Given the description of an element on the screen output the (x, y) to click on. 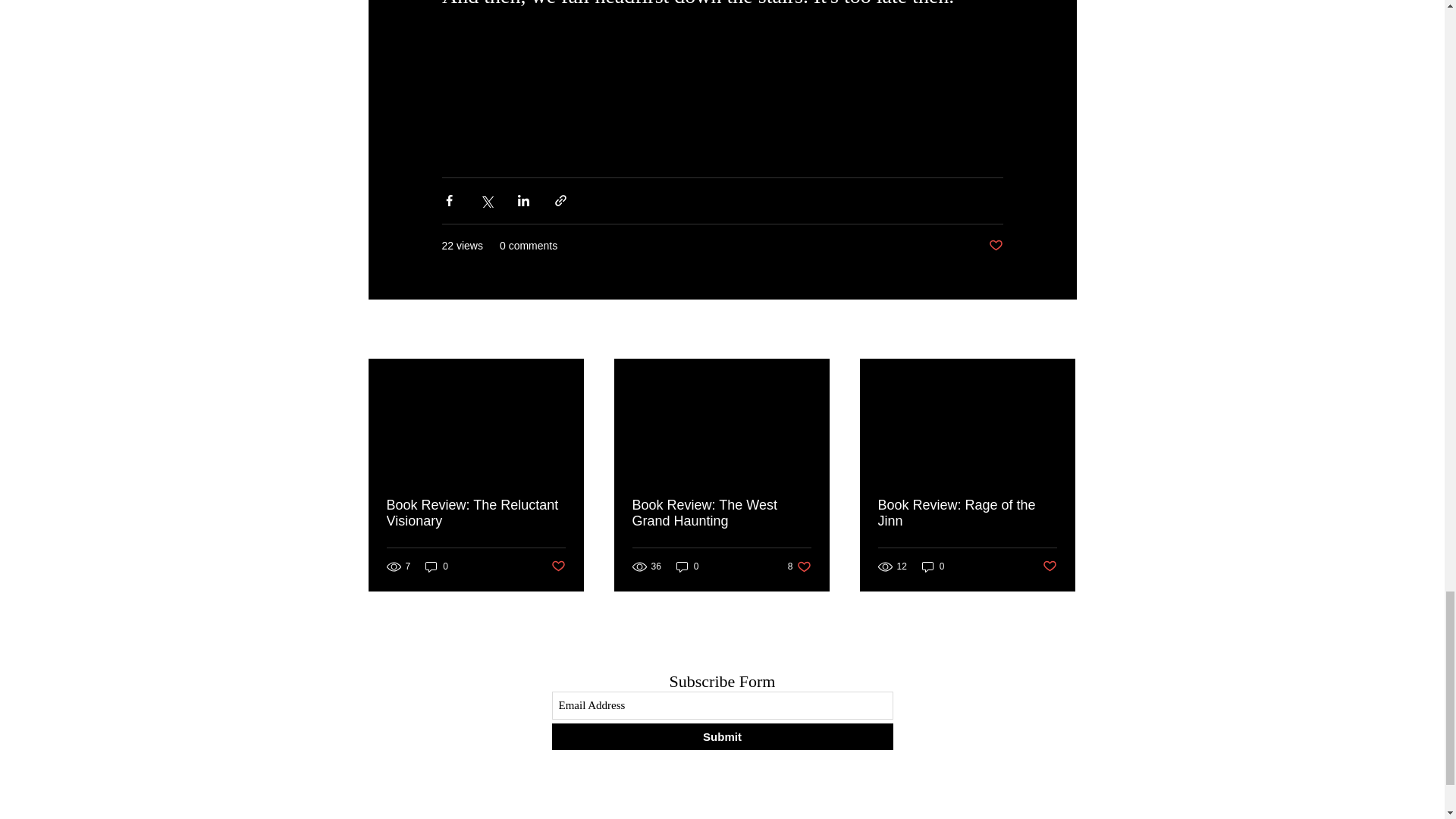
Post not marked as liked (995, 245)
Book Review: The West Grand Haunting (798, 566)
See All (720, 513)
0 (1061, 330)
Submit (436, 566)
Book Review: The Reluctant Visionary (722, 736)
0 (476, 513)
Post not marked as liked (933, 566)
0 (557, 566)
Post not marked as liked (687, 566)
Book Review: Rage of the Jinn (1049, 566)
